Given the description of an element on the screen output the (x, y) to click on. 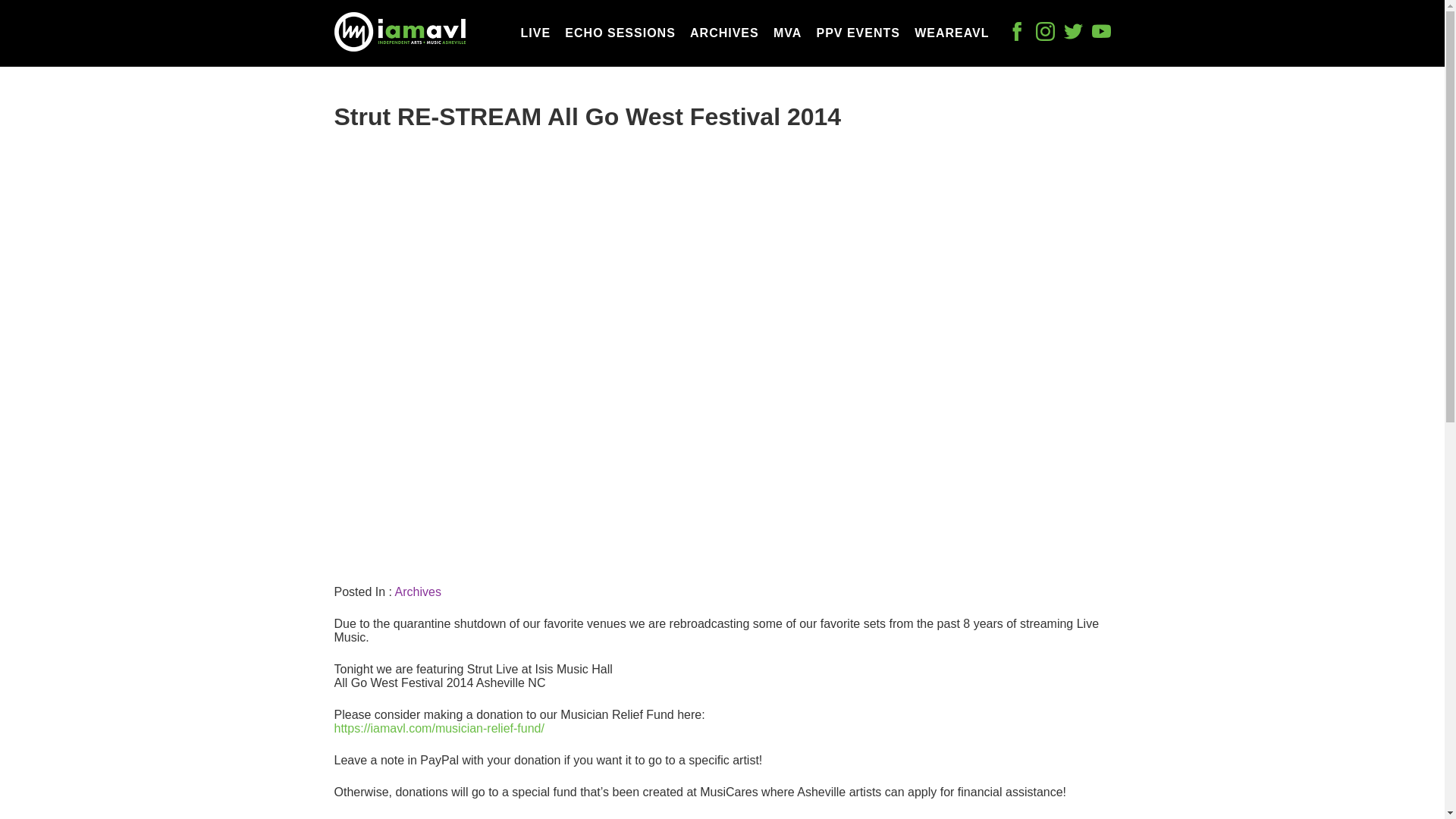
ARCHIVES (724, 32)
Archives (417, 591)
ECHO SESSIONS (619, 32)
WEAREAVL (951, 32)
PPV EVENTS (857, 32)
